Given the description of an element on the screen output the (x, y) to click on. 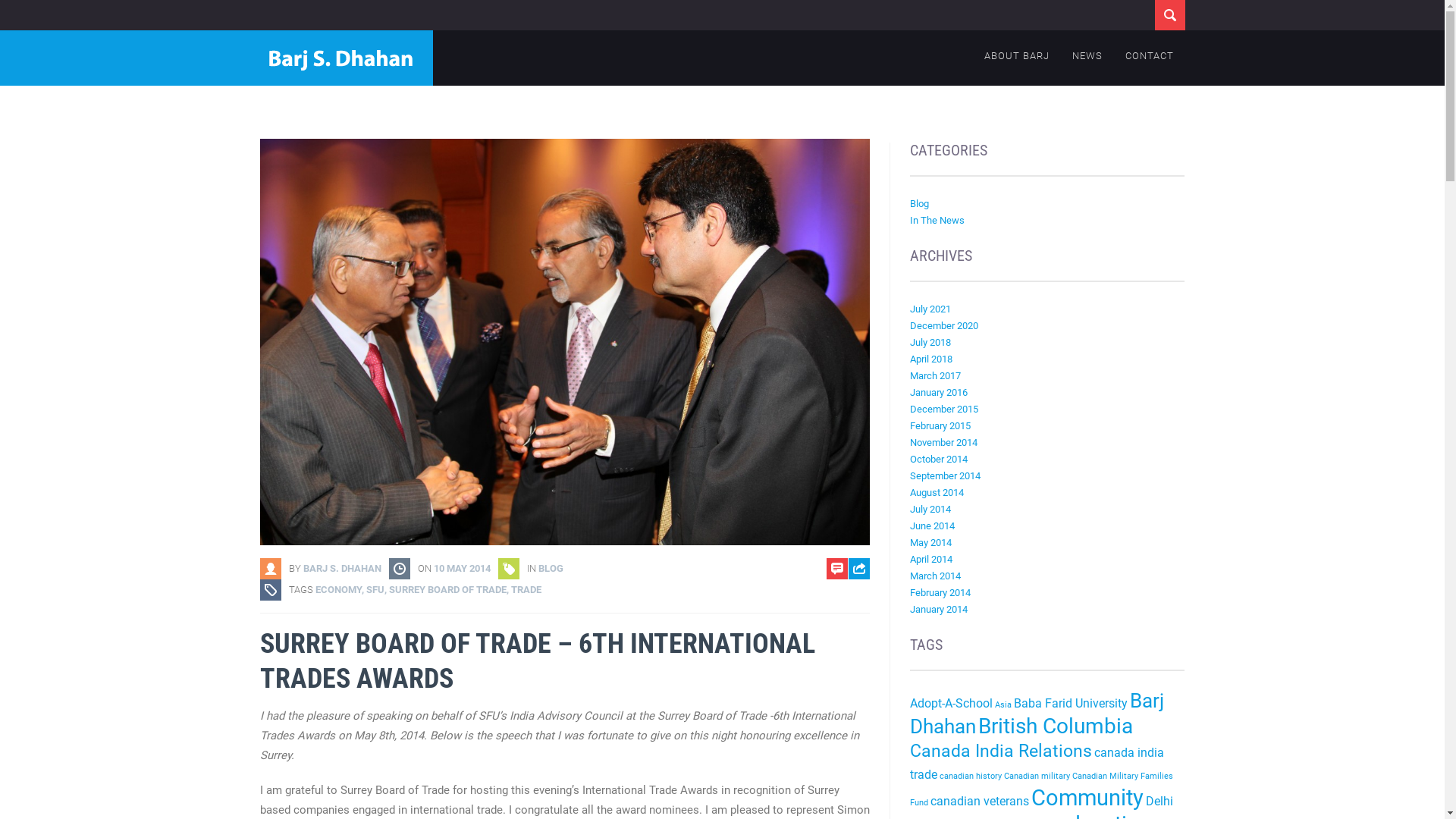
March 2014 Element type: text (935, 575)
August 2014 Element type: text (936, 492)
February 2014 Element type: text (940, 592)
October 2014 Element type: text (938, 458)
canada india trade Element type: text (1037, 763)
Canadian Military Families Fund Element type: text (1041, 789)
CONTACT Element type: text (1148, 54)
British Columbia Element type: text (1055, 725)
April 2018 Element type: text (931, 358)
March 2017 Element type: text (935, 375)
September 2014 Element type: text (945, 475)
June 2014 Element type: text (932, 525)
In The News Element type: text (937, 219)
NEWS Element type: text (1086, 54)
May 2014 Element type: text (930, 542)
January 2014 Element type: text (938, 609)
BARJ S. DHAHAN Element type: text (342, 568)
ECONOMY Element type: text (338, 589)
Adopt-A-School Element type: text (951, 703)
canadian history Element type: text (970, 776)
BLOG Element type: text (550, 568)
November 2014 Element type: text (943, 442)
July 2014 Element type: text (930, 508)
January 2016 Element type: text (938, 392)
canadian veterans Element type: text (979, 800)
Baba Farid University Element type: text (1070, 703)
Canada India Relations Element type: text (1001, 750)
December 2020 Element type: text (944, 325)
Delhi Element type: text (1159, 800)
July 2018 Element type: text (930, 342)
Barj Dhahan Element type: text (1037, 713)
February 2015 Element type: text (940, 425)
Community Element type: text (1087, 797)
Canadian military Element type: text (1037, 776)
SURREY BOARD OF TRADE Element type: text (446, 589)
Blog Element type: text (919, 203)
April 2014 Element type: text (931, 558)
July 2021 Element type: text (930, 308)
December 2015 Element type: text (944, 408)
Asia Element type: text (1002, 704)
TRADE Element type: text (526, 589)
ABOUT BARJ Element type: text (1016, 54)
SFU Element type: text (374, 589)
